Given the description of an element on the screen output the (x, y) to click on. 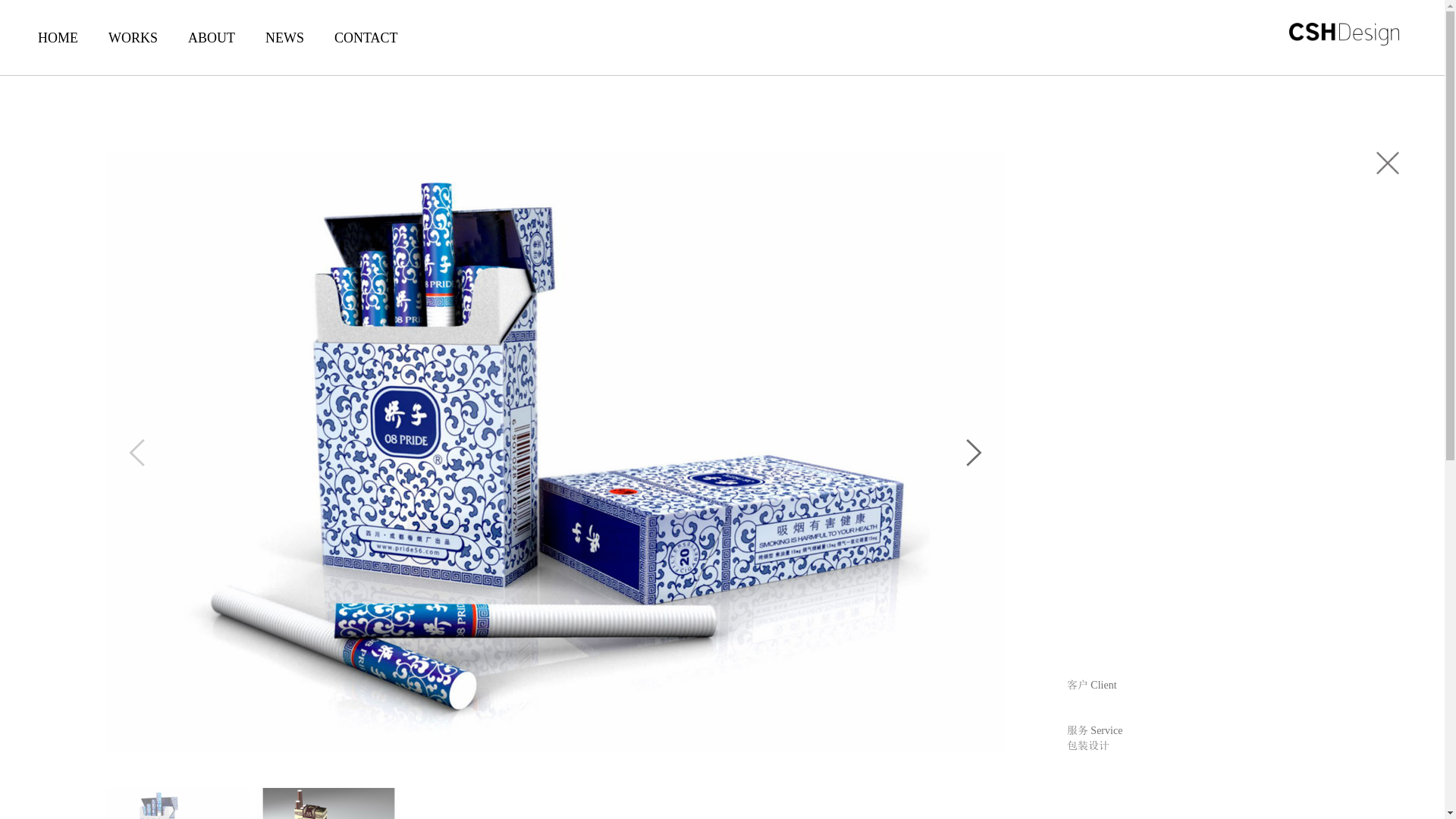
WORKS Element type: text (132, 49)
CONTACT Element type: text (366, 49)
NEWS Element type: text (284, 49)
HOME Element type: text (57, 49)
ABOUT Element type: text (211, 49)
